Given the description of an element on the screen output the (x, y) to click on. 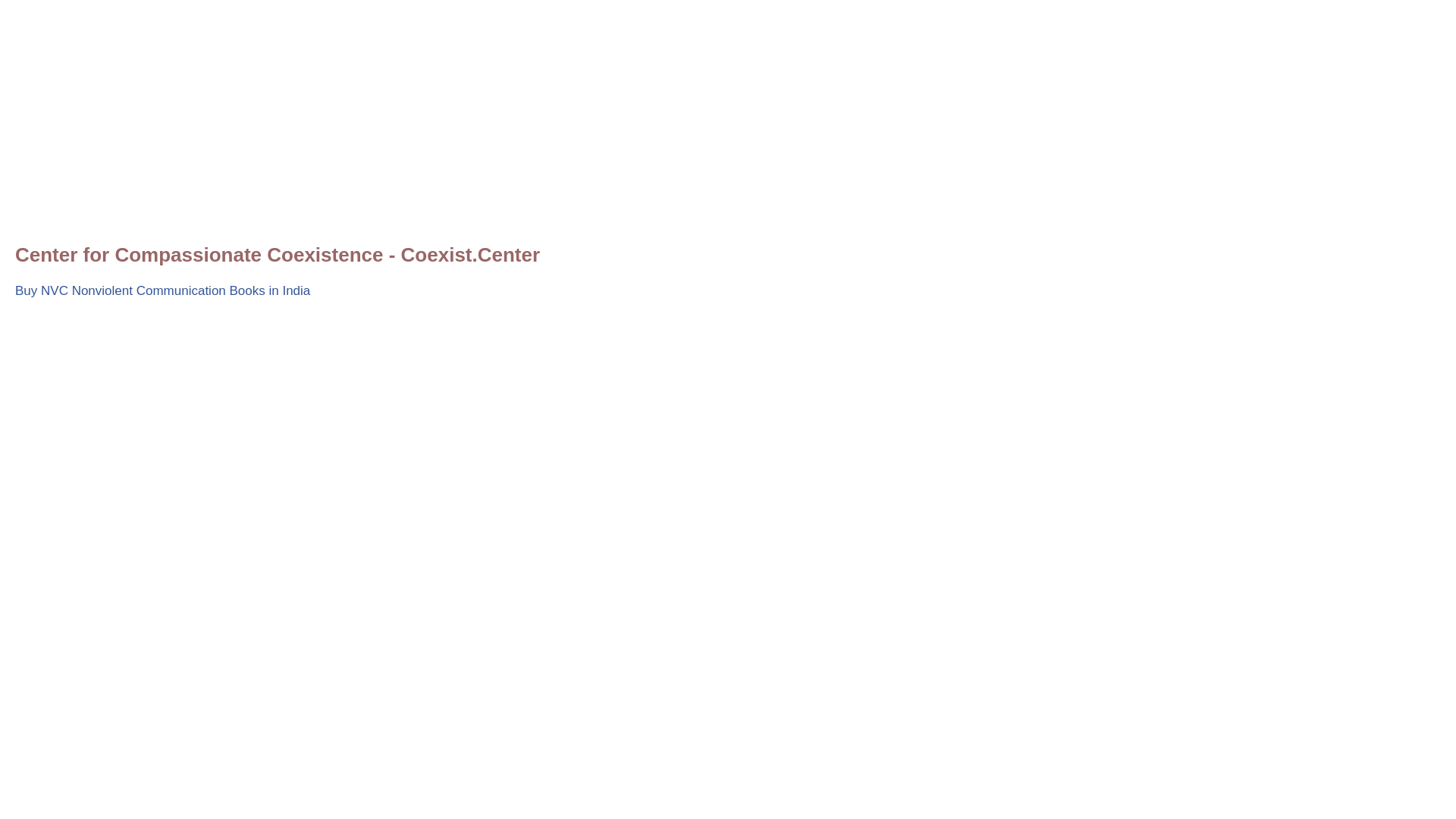
Advertisement Element type: hover (470, 121)
Buy NVC Nonviolent Communication Books in India Element type: text (162, 290)
Advertisement Element type: hover (470, 419)
